Given the description of an element on the screen output the (x, y) to click on. 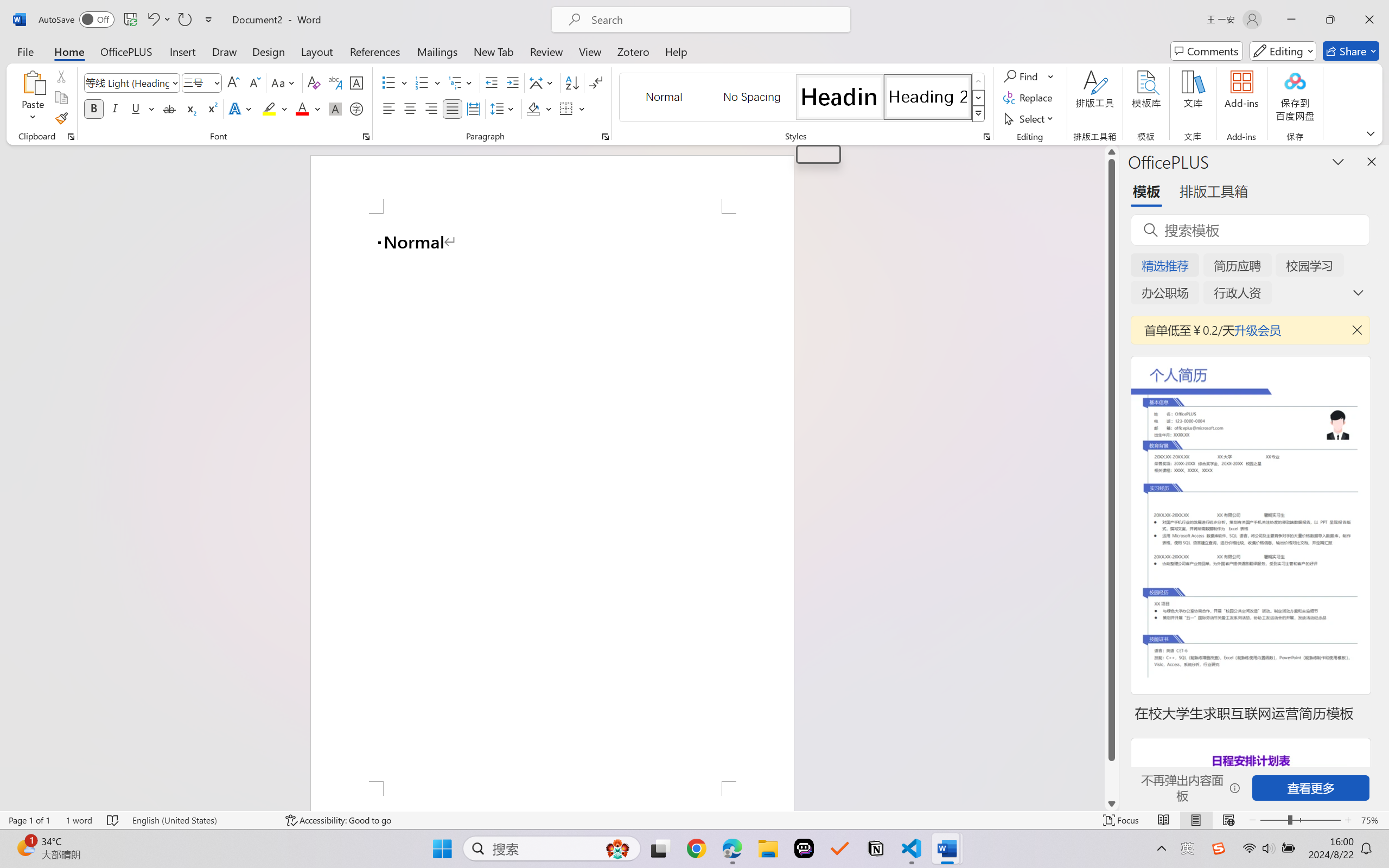
Bold (94, 108)
Heading 2 (927, 96)
Design (268, 51)
Shading RGB(0, 0, 0) (533, 108)
Paste (33, 81)
Read Mode (1163, 819)
Italic (115, 108)
Copy (60, 97)
Draw (224, 51)
Superscript (210, 108)
